Given the description of an element on the screen output the (x, y) to click on. 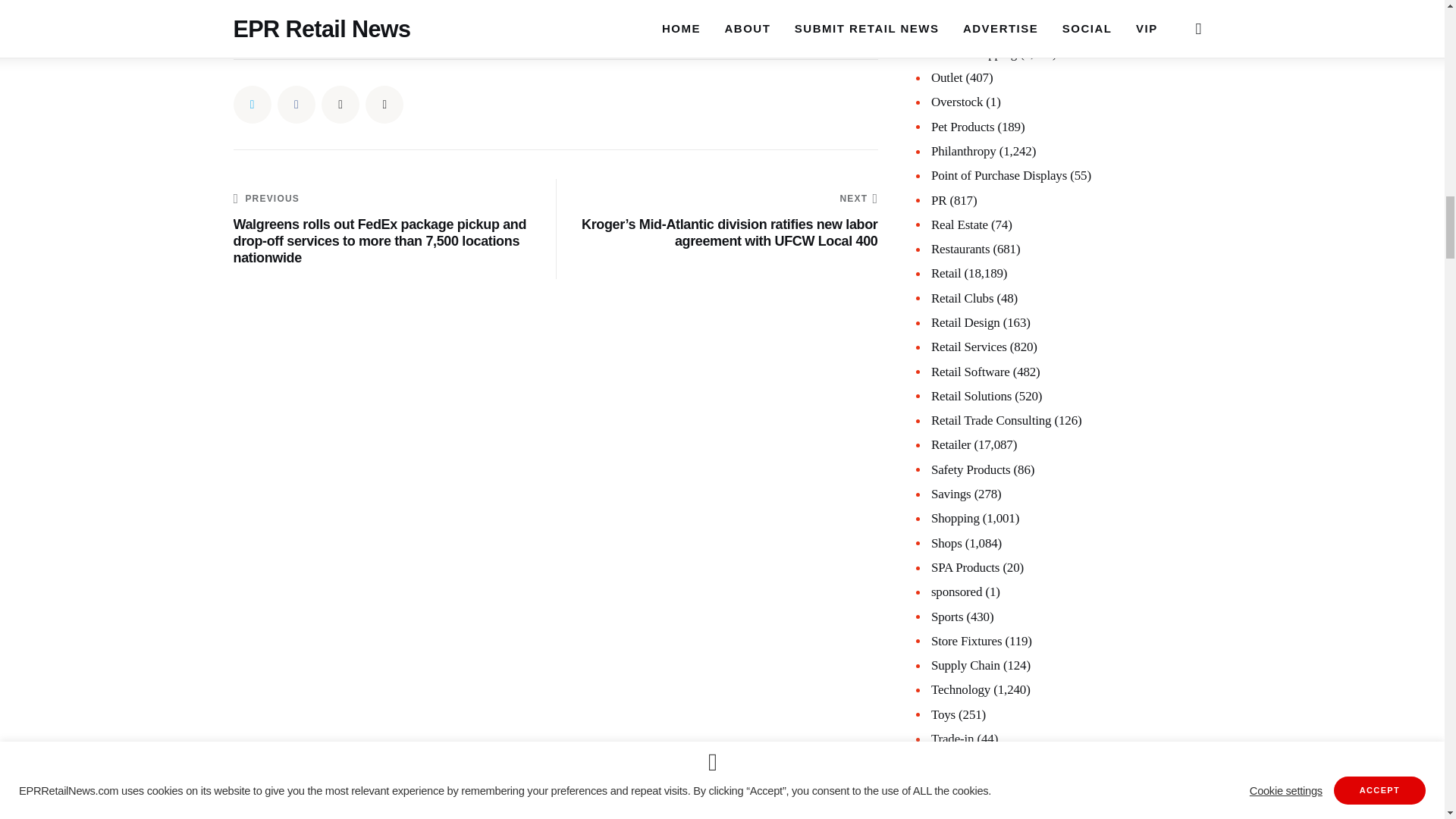
Copy URL to clipboard (384, 104)
